Given the description of an element on the screen output the (x, y) to click on. 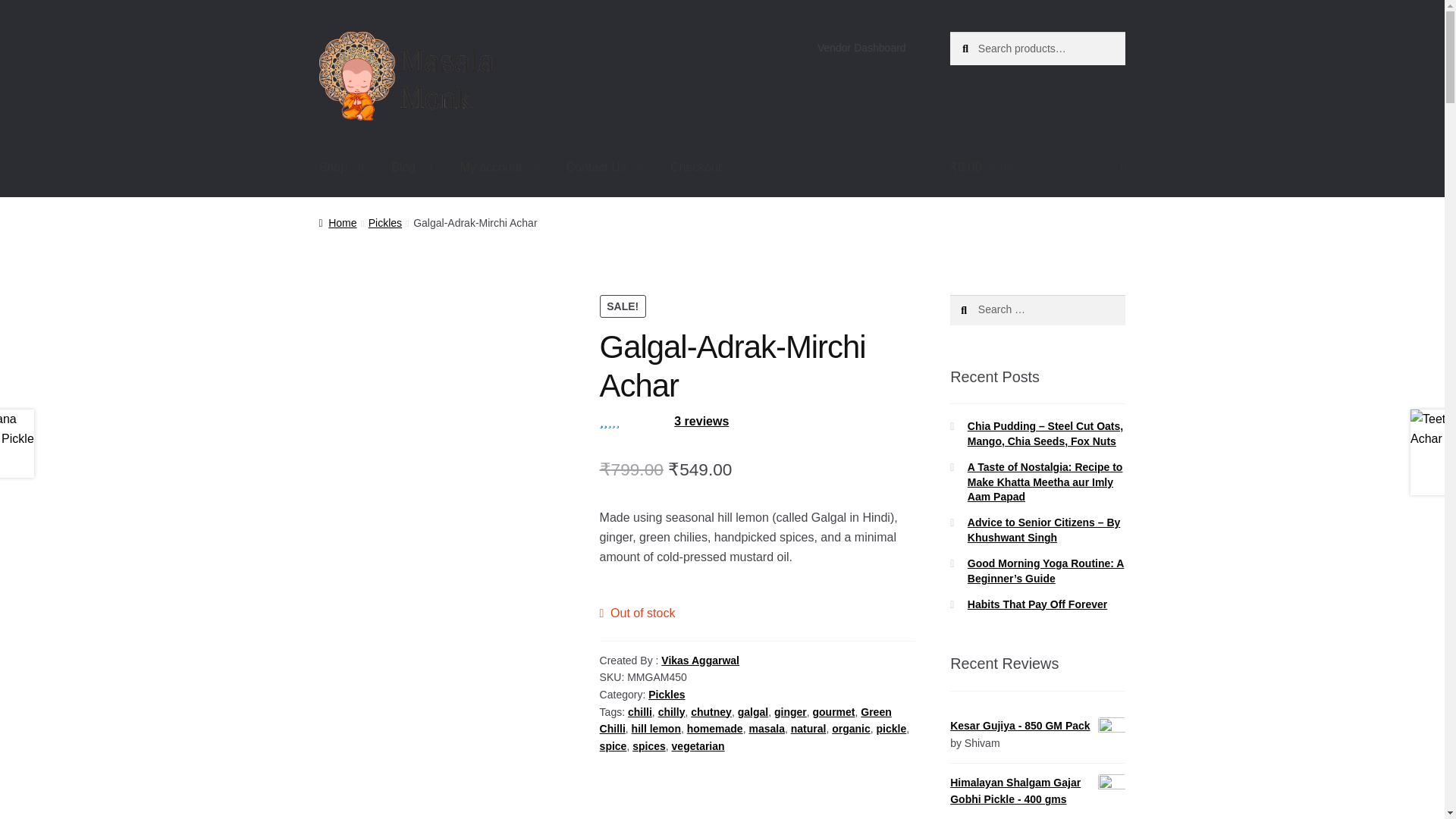
My account (499, 167)
Shop (341, 167)
View your shopping cart (1037, 167)
Contact Us (604, 167)
Blog (411, 167)
Checkout (695, 167)
Vendor Dashboard (861, 47)
